Given the description of an element on the screen output the (x, y) to click on. 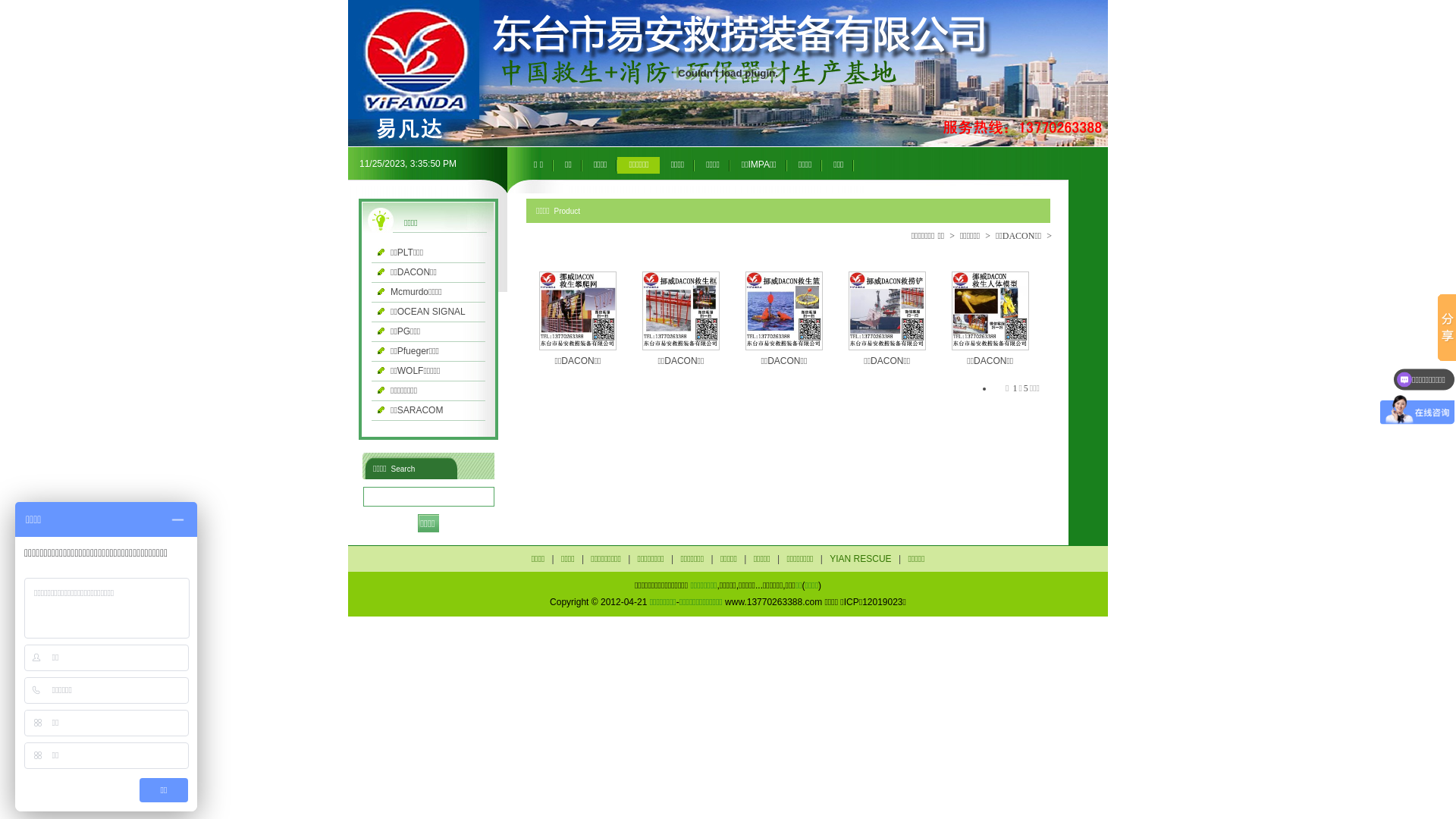
YIAN RESCUE Element type: text (860, 558)
